Given the description of an element on the screen output the (x, y) to click on. 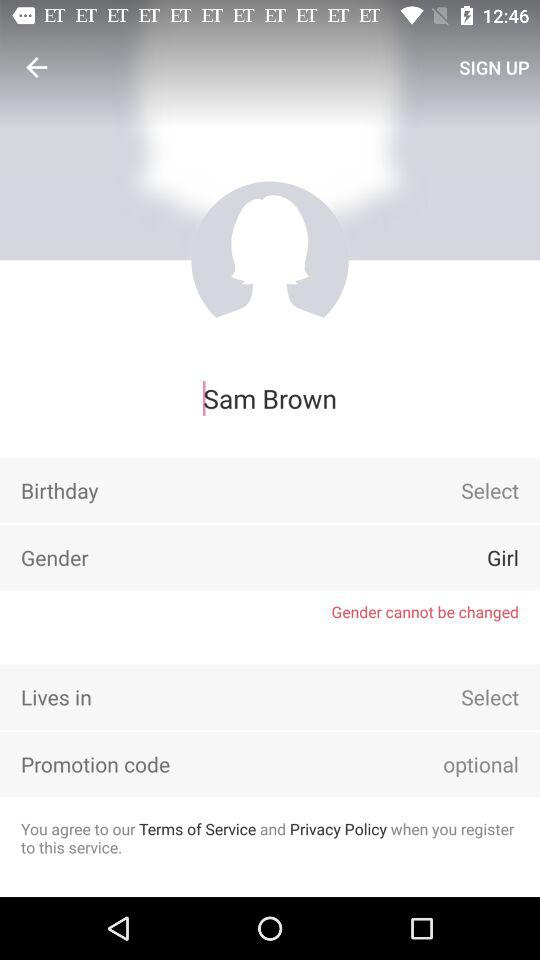
jump to sign up item (494, 67)
